Given the description of an element on the screen output the (x, y) to click on. 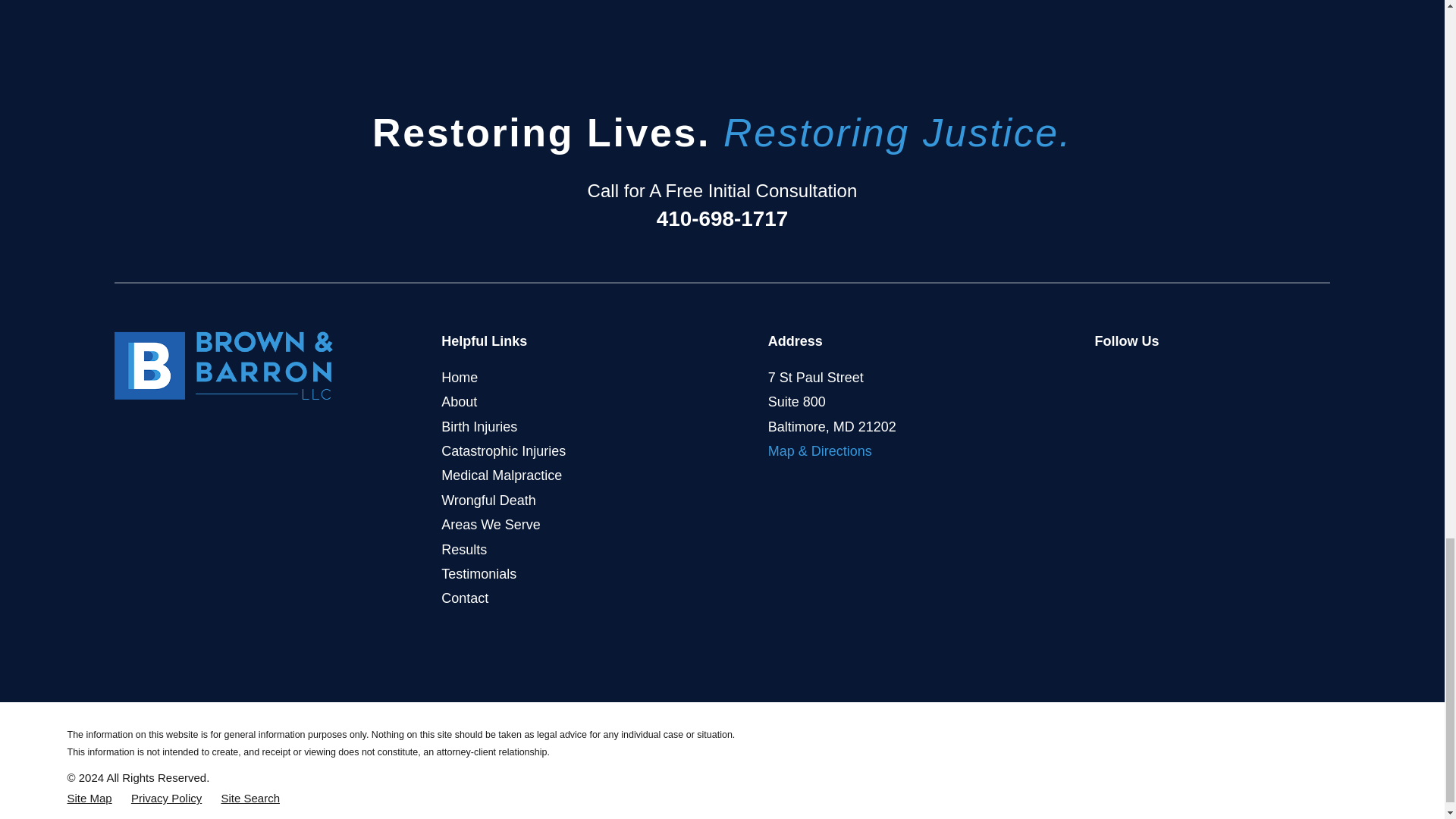
Twitter (1138, 374)
Facebook (1103, 374)
YouTube (1172, 374)
Home (224, 365)
